Given the description of an element on the screen output the (x, y) to click on. 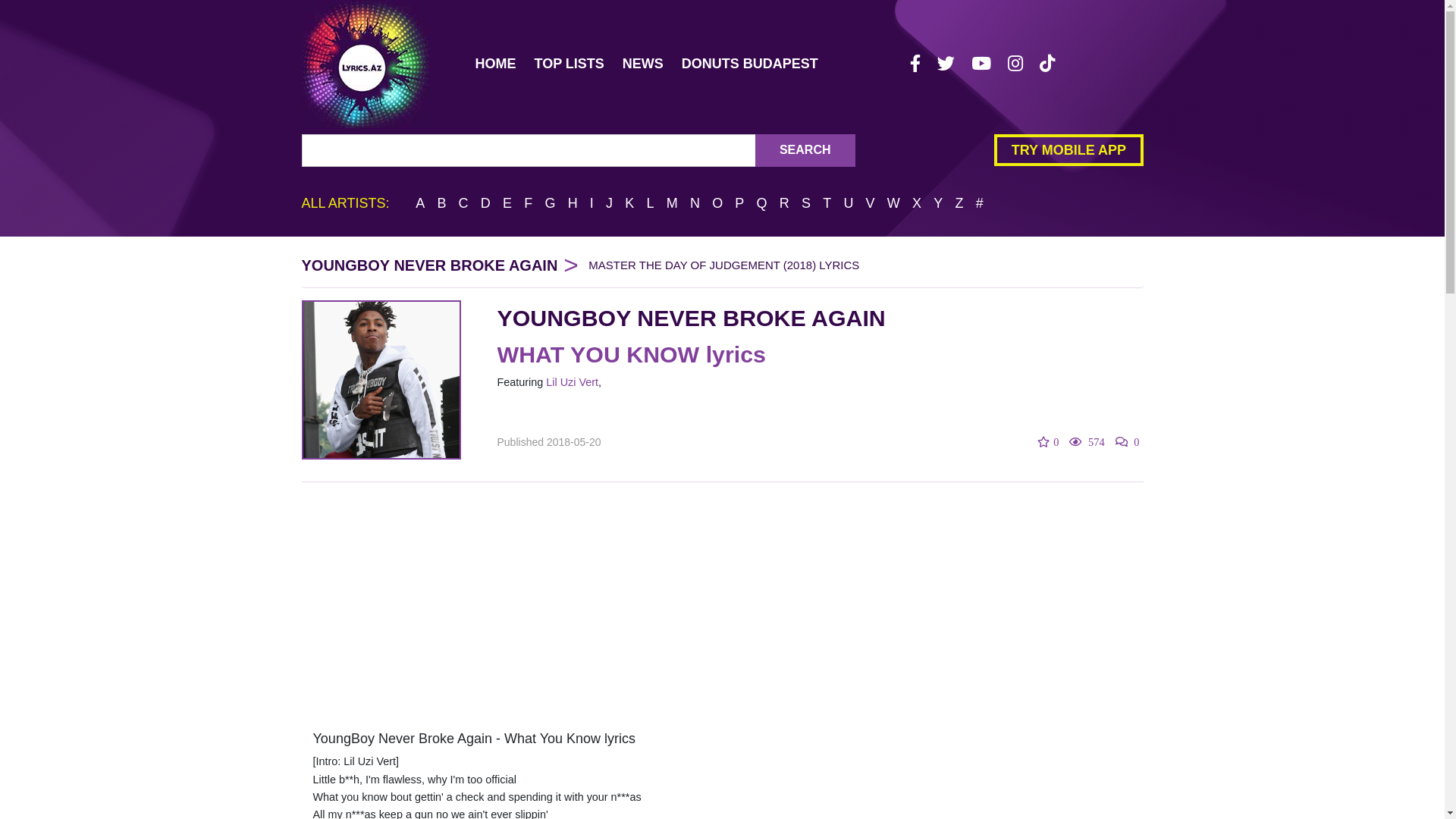
G Element type: text (549, 202)
Y Element type: text (937, 202)
R Element type: text (784, 202)
TOP LISTS Element type: text (568, 64)
HOME Element type: text (494, 64)
W Element type: text (893, 202)
U Element type: text (848, 202)
Lyrics.az on Twitter Element type: hover (945, 63)
MASTER THE DAY OF JUDGEMENT (2018) LYRICS Element type: text (723, 263)
NEWS Element type: text (642, 64)
V Element type: text (870, 202)
F Element type: text (528, 202)
TRY MOBILE APP Element type: text (1068, 150)
K Element type: text (628, 202)
Q Element type: text (761, 202)
Lyrics.az on Tiktok Element type: hover (1047, 63)
C Element type: text (463, 202)
M Element type: text (671, 202)
Advertisement Element type: hover (722, 606)
SEARCH Element type: text (805, 150)
E Element type: text (506, 202)
T Element type: text (826, 202)
Z Element type: text (958, 202)
YOUNGBOY NEVER BROKE AGAIN Element type: text (429, 265)
O Element type: text (717, 202)
B Element type: text (440, 202)
I Element type: text (591, 202)
Lil Uzi Vert Element type: text (572, 382)
H Element type: text (572, 202)
X Element type: text (916, 202)
Lyrics.az on Facebook Element type: hover (914, 63)
YOUNGBOY NEVER BROKE AGAIN Element type: text (691, 317)
J Element type: text (608, 202)
Lyrics.az on Youtube Element type: hover (981, 63)
# Element type: text (979, 202)
A Element type: text (419, 202)
Lyrics.az on Instagram Element type: hover (1015, 63)
S Element type: text (805, 202)
D Element type: text (485, 202)
P Element type: text (738, 202)
N Element type: text (694, 202)
DONUTS BUDAPEST Element type: text (749, 64)
L Element type: text (649, 202)
